Given the description of an element on the screen output the (x, y) to click on. 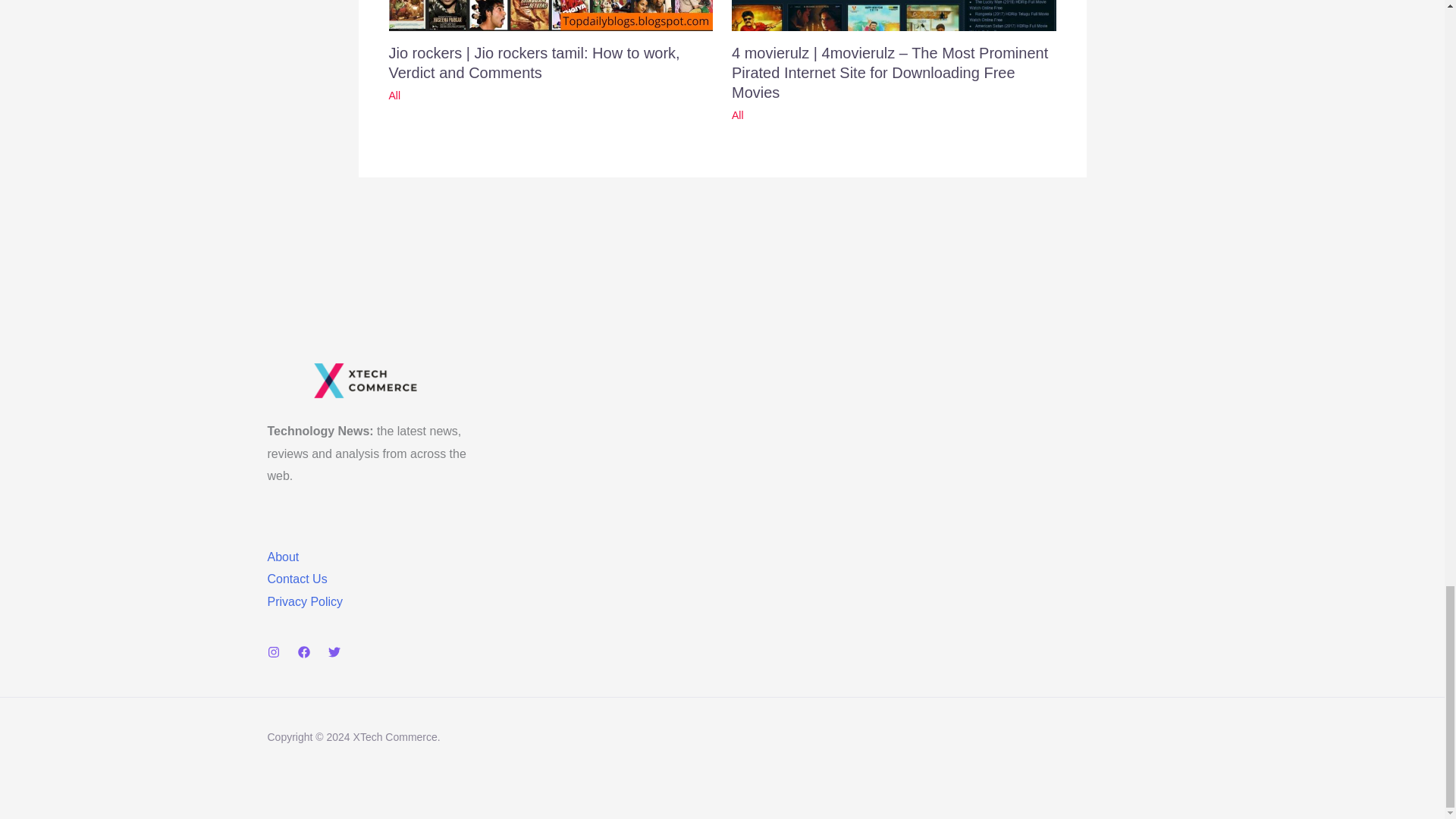
All (738, 114)
All (394, 95)
Contact Us (296, 578)
Privacy Policy (304, 601)
About (282, 556)
